Given the description of an element on the screen output the (x, y) to click on. 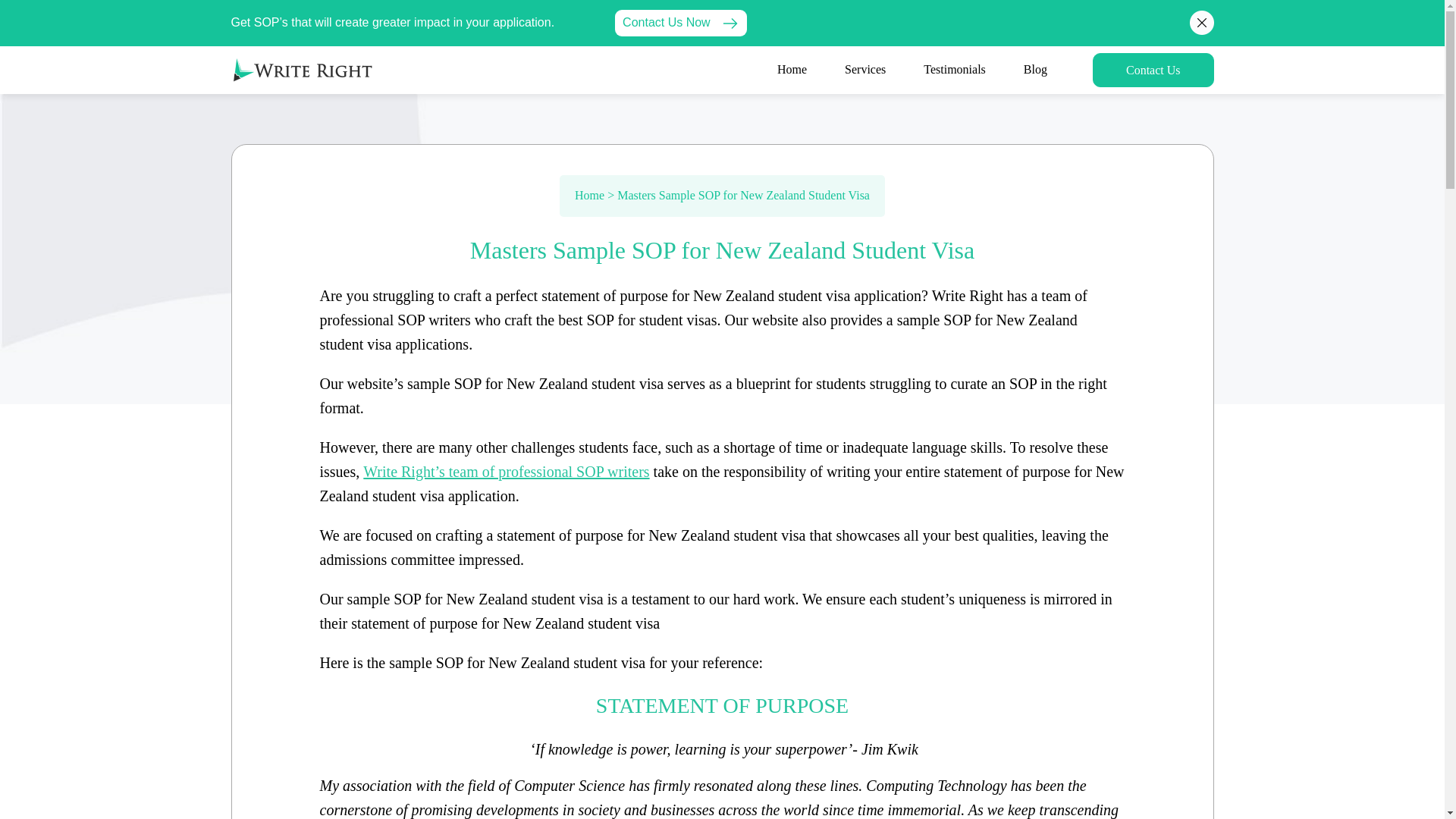
Home (589, 195)
Contact Us Now (680, 22)
Home (791, 69)
Services (865, 69)
Contact Us (1153, 69)
Sign In (1153, 69)
Testimonials (953, 69)
Blog (1035, 69)
